Given the description of an element on the screen output the (x, y) to click on. 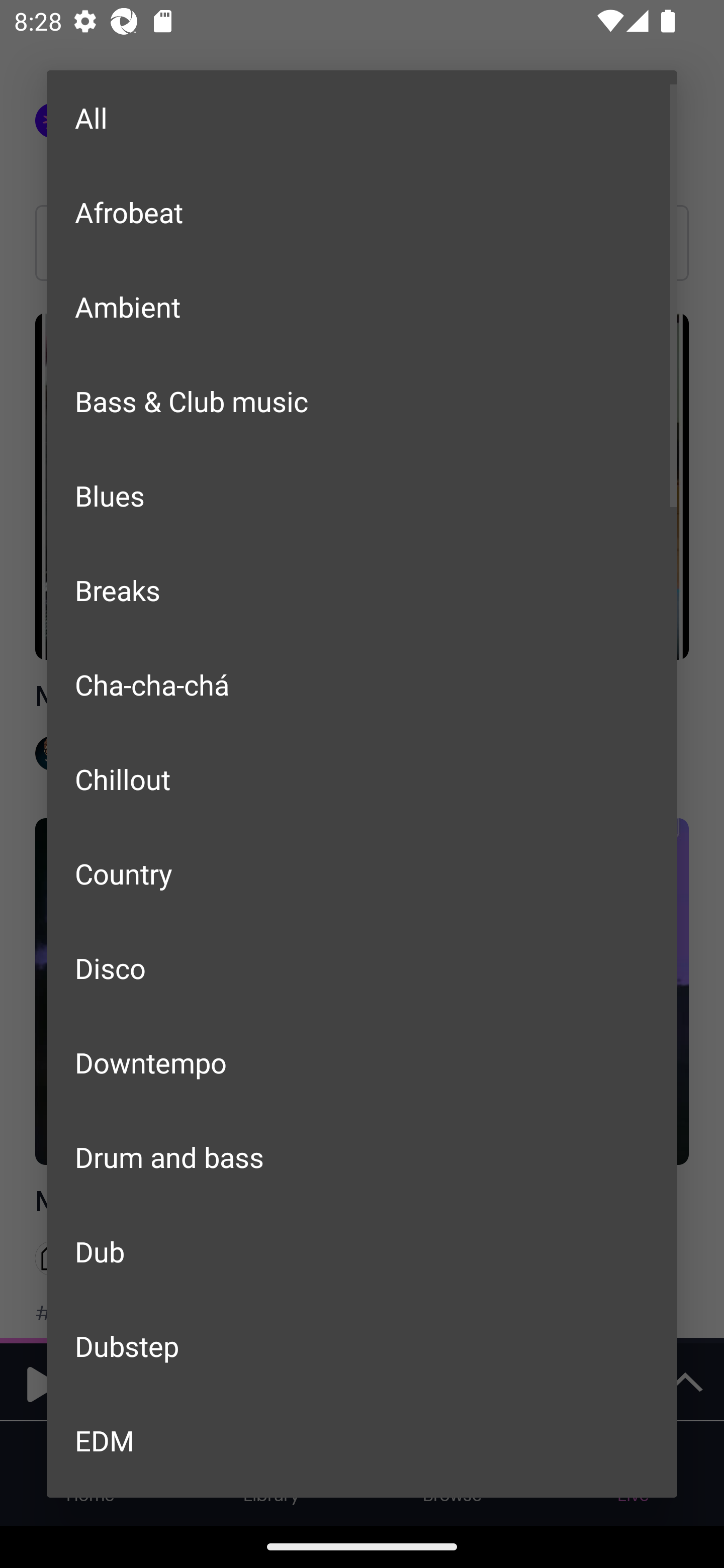
All (361, 117)
Afrobeat (361, 211)
Ambient (361, 306)
Bass & Club music (361, 401)
Blues (361, 495)
Breaks (361, 589)
Cha-cha-chá (361, 684)
Chillout (361, 779)
Country (361, 873)
Disco (361, 967)
Downtempo (361, 1062)
Drum and bass (361, 1157)
Dub (361, 1251)
Dubstep (361, 1345)
EDM (361, 1440)
